Given the description of an element on the screen output the (x, y) to click on. 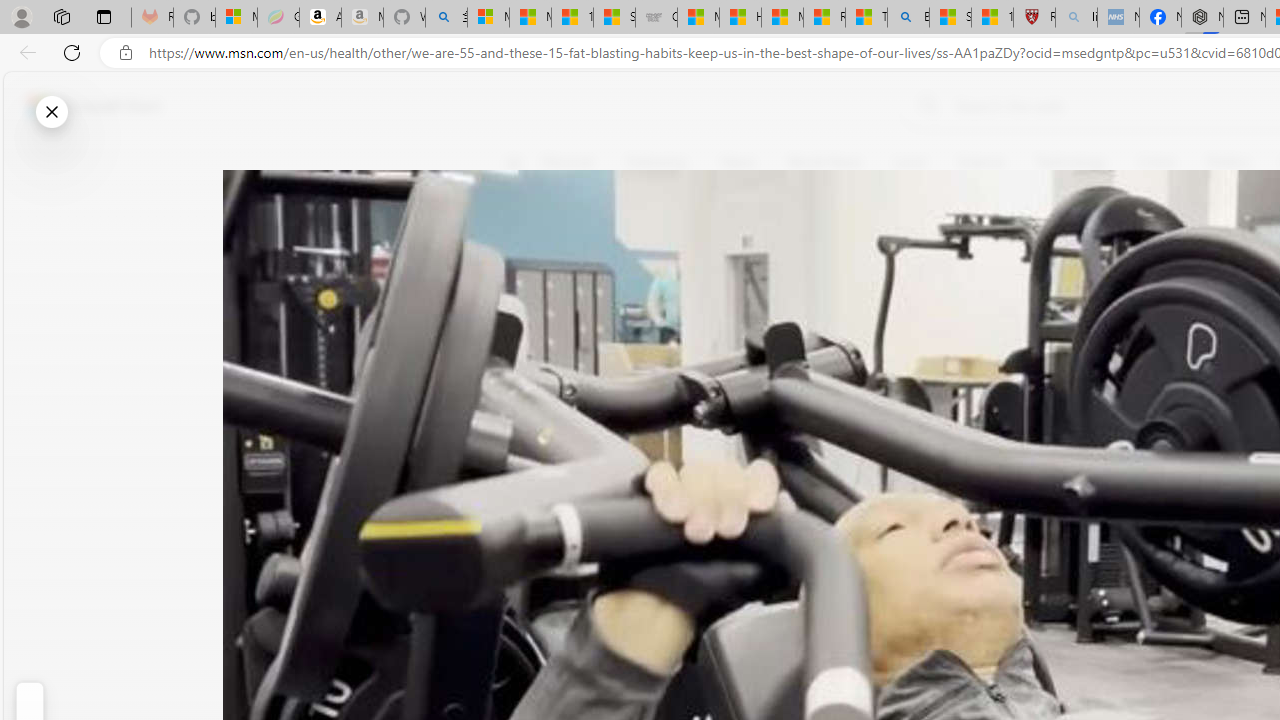
6 (525, 300)
12 Popular Science Lies that Must be Corrected (991, 17)
